Given the description of an element on the screen output the (x, y) to click on. 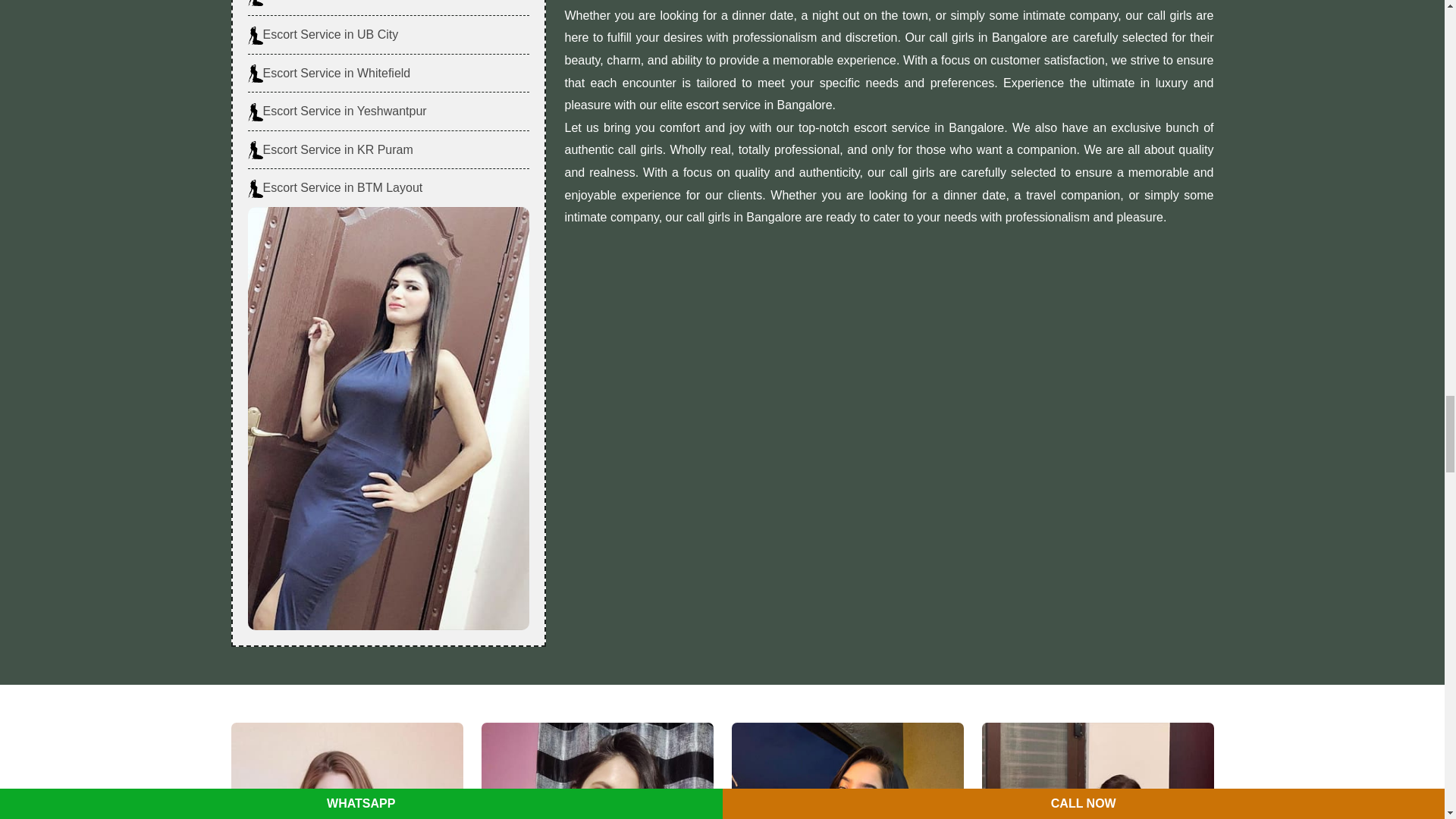
Escort Service in Silk Board (329, 3)
HSR Layout Escort (1096, 770)
MG Road Escort (346, 770)
Escort Service in KR Puram (329, 149)
Escort Service in Yeshwantpur (336, 110)
Escort Service in Whitefield (328, 73)
Escort Service in UB City (322, 34)
Koramangala Escort (846, 770)
KR Puram Escort (596, 770)
Escort Service in BTM Layout (334, 187)
